Given the description of an element on the screen output the (x, y) to click on. 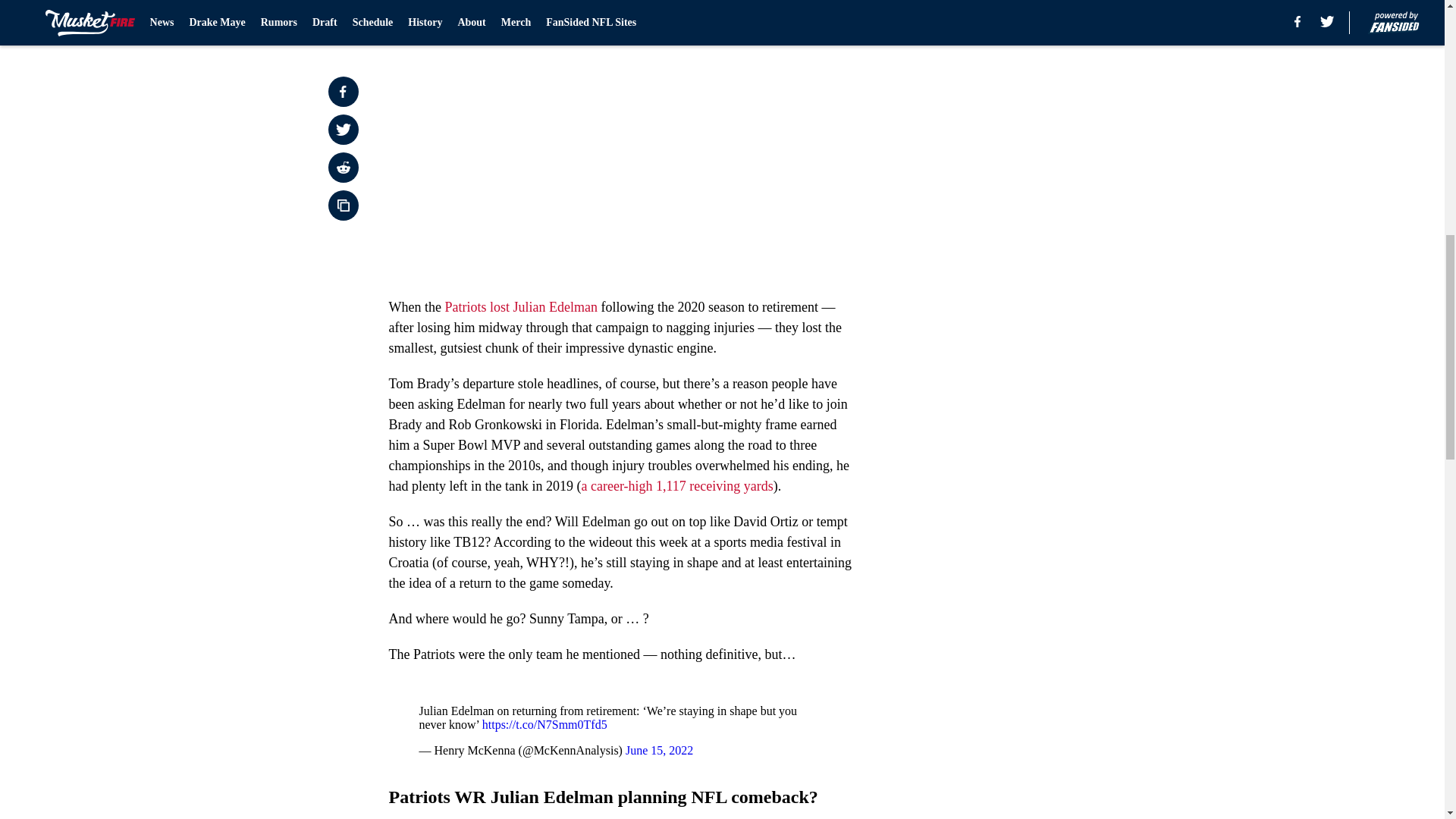
lost Julian Edelman (542, 306)
Patriots (465, 306)
a career-high 1,117 receiving yards (676, 485)
June 15, 2022 (659, 749)
